Given the description of an element on the screen output the (x, y) to click on. 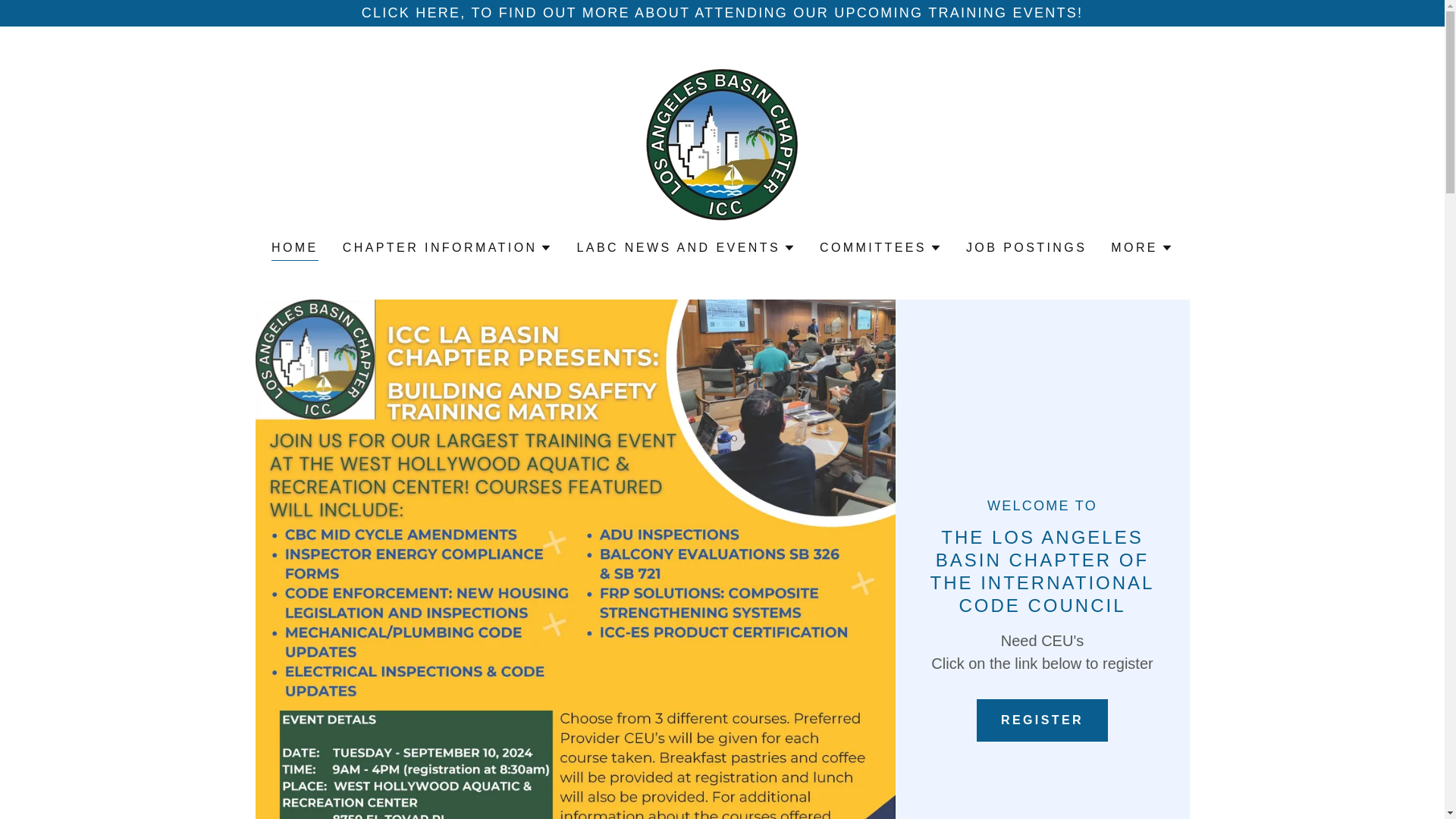
COMMITTEES (880, 248)
JOB POSTINGS (1025, 247)
HOME (294, 250)
LABC NEWS AND EVENTS (685, 248)
CHAPTER INFORMATION (447, 248)
MORE (1141, 248)
 Los Angeles Basin Chapter of ICC (721, 143)
